Given the description of an element on the screen output the (x, y) to click on. 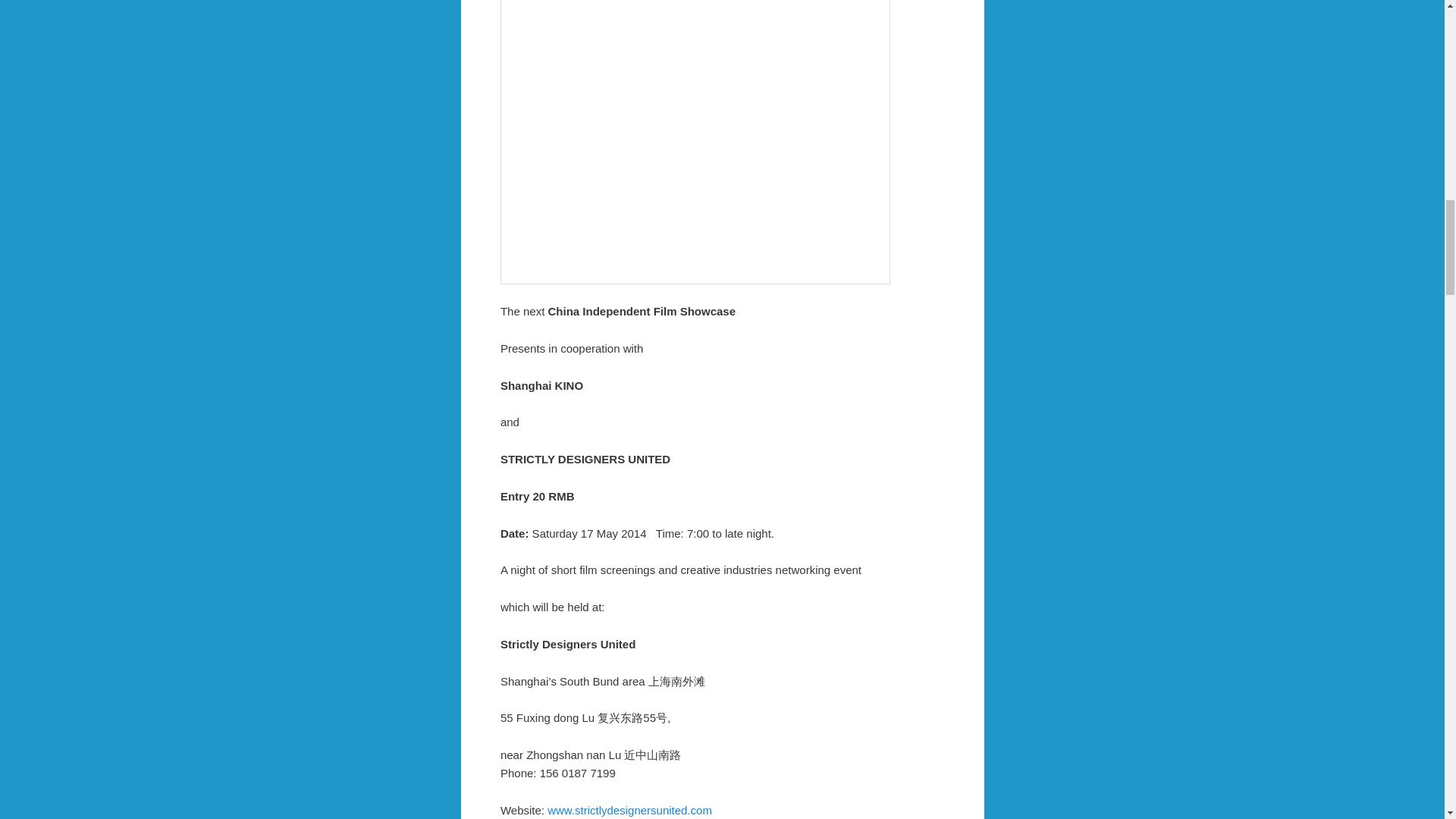
www.strictlydesignersunited.com (629, 809)
